Given the description of an element on the screen output the (x, y) to click on. 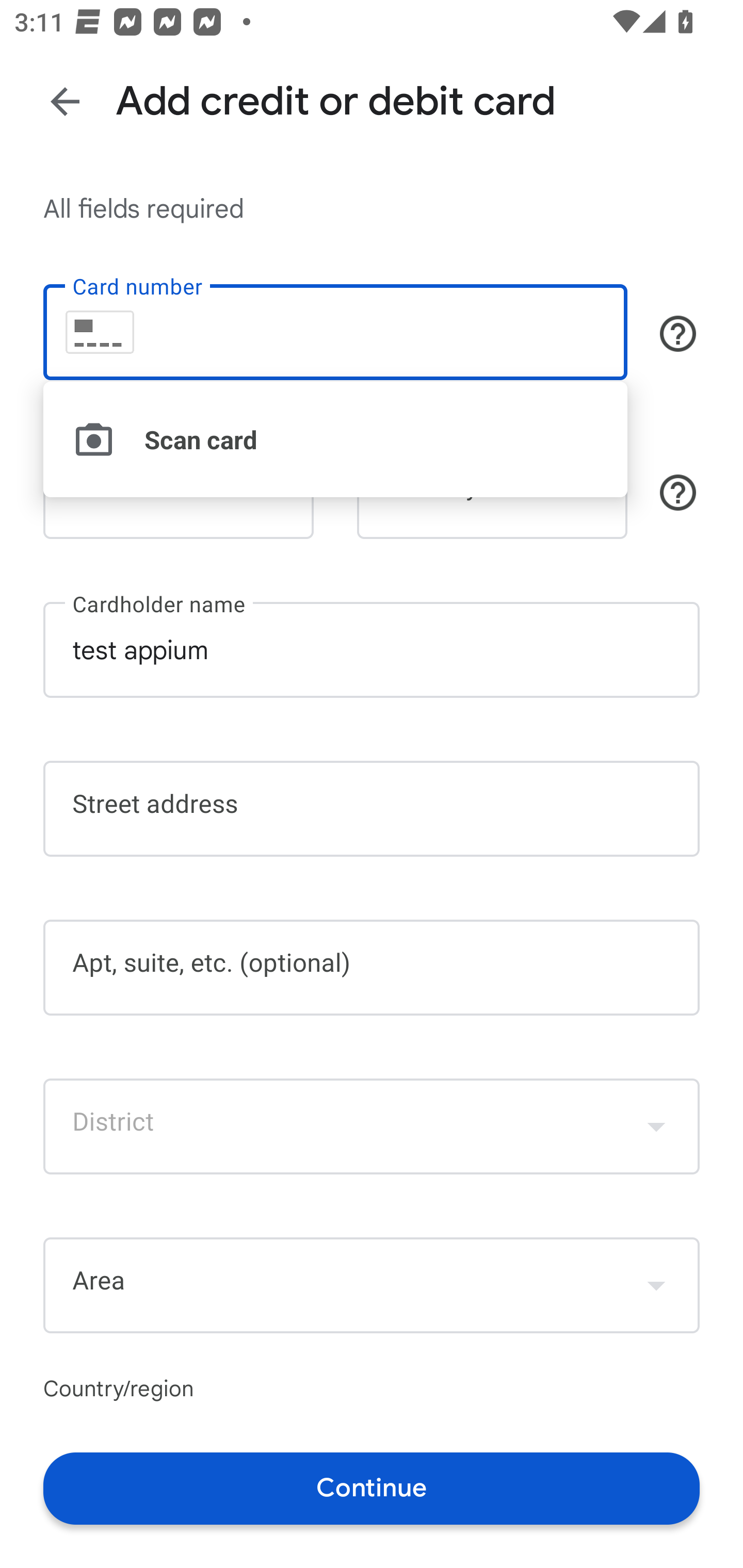
Back (64, 101)
Card number (335, 331)
Button, shows cards that are accepted for payment (677, 333)
Security code help (677, 492)
test appium (371, 649)
Street address (371, 808)
Apt, suite, etc. (optional) (371, 968)
District (371, 1126)
Show dropdown menu (655, 1126)
Area (371, 1284)
Show dropdown menu (655, 1284)
Continue (371, 1487)
